Given the description of an element on the screen output the (x, y) to click on. 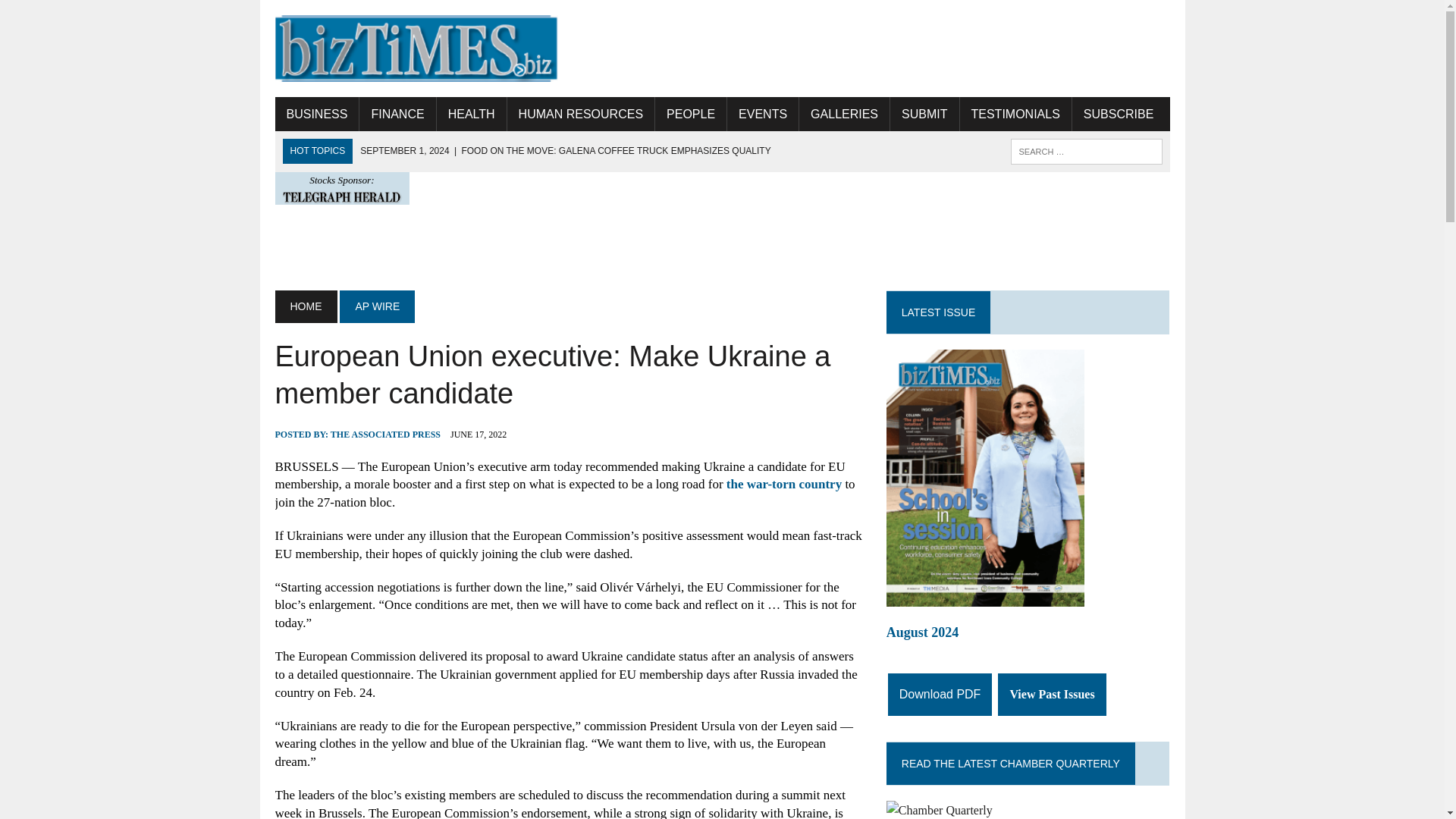
PEOPLE (690, 114)
Download PDF (940, 694)
SUBMIT (923, 114)
GALLERIES (844, 114)
AP WIRE (376, 306)
BizTimes.biz (416, 48)
FINANCE (397, 114)
SUBSCRIBE (1117, 114)
EVENTS (761, 114)
HUMAN RESOURCES (579, 114)
